Given the description of an element on the screen output the (x, y) to click on. 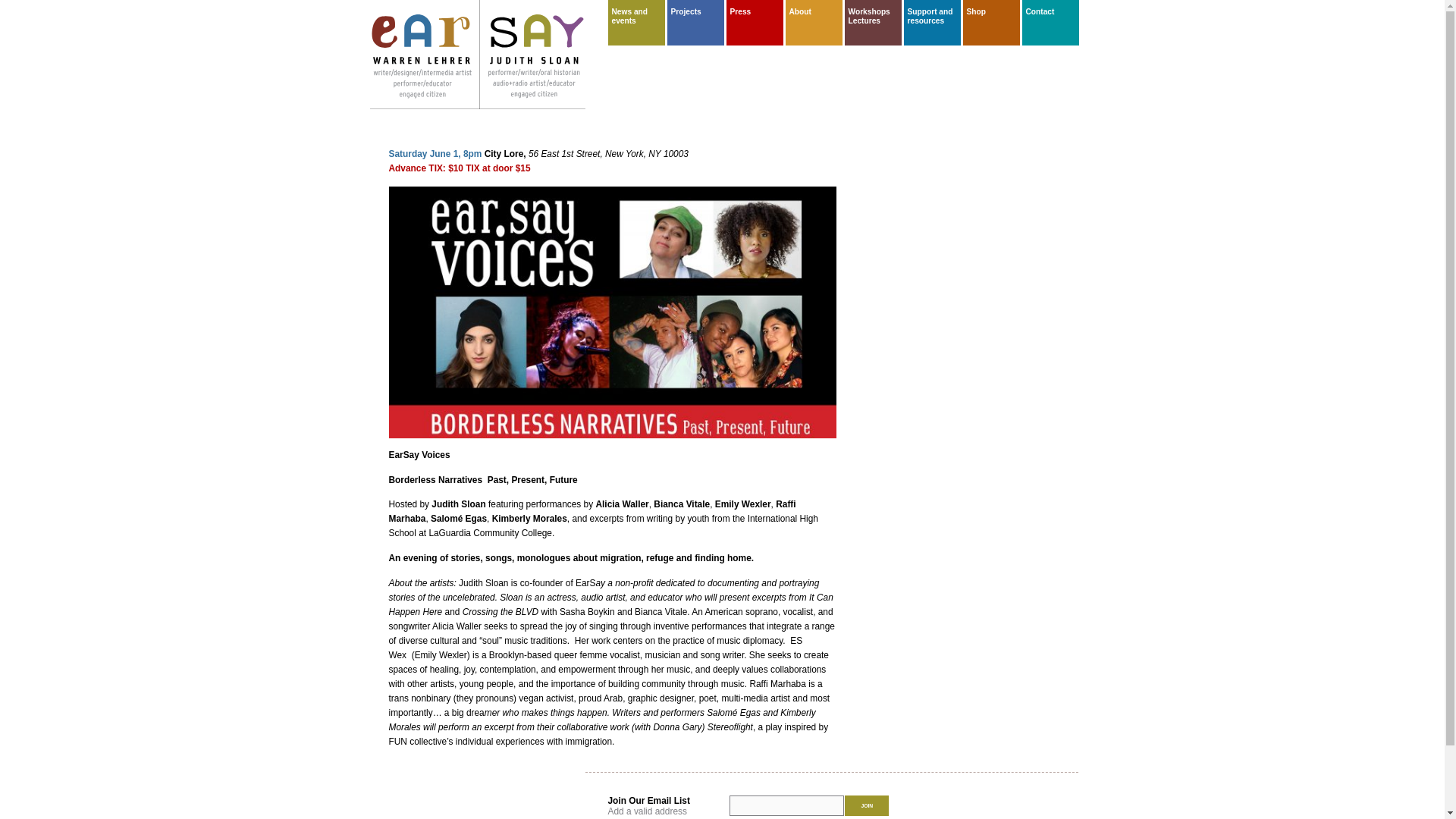
Press (754, 12)
About (814, 12)
News and events (636, 16)
Workshops Lectures (872, 16)
Projects (694, 12)
